Given the description of an element on the screen output the (x, y) to click on. 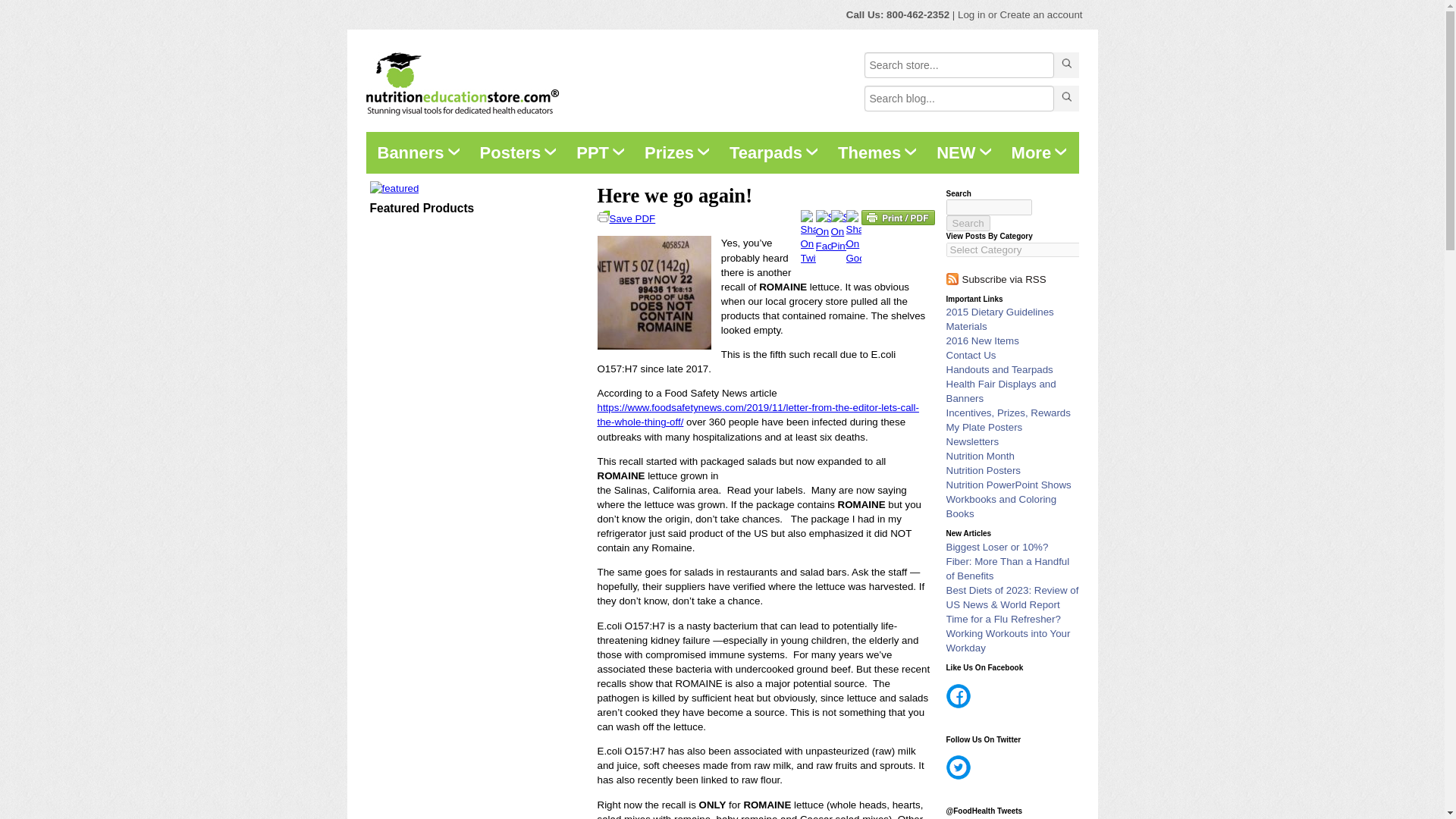
Search (968, 222)
Log in (971, 14)
Create an account (1041, 14)
